Given the description of an element on the screen output the (x, y) to click on. 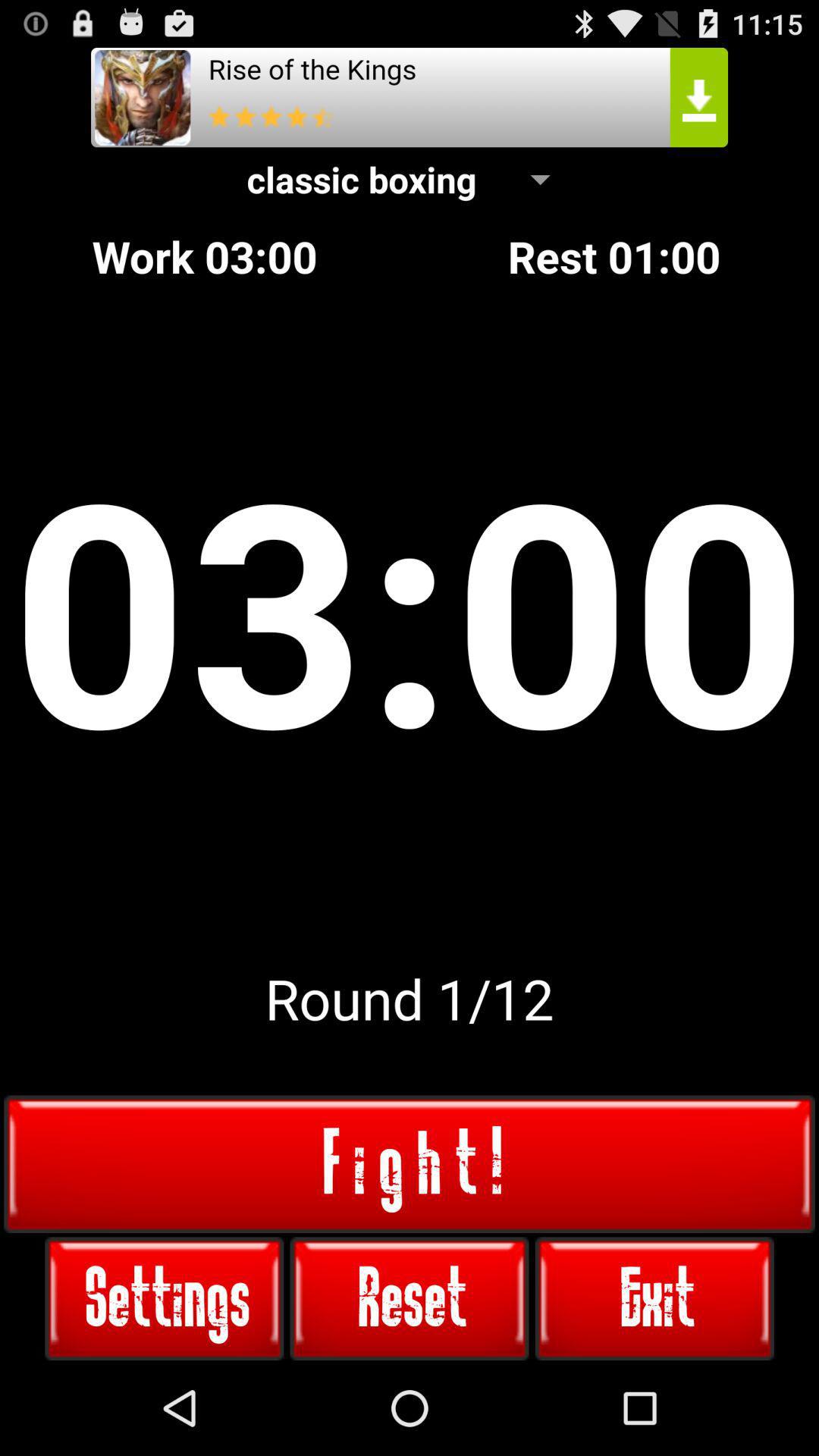
adiveristment (409, 97)
